Given the description of an element on the screen output the (x, y) to click on. 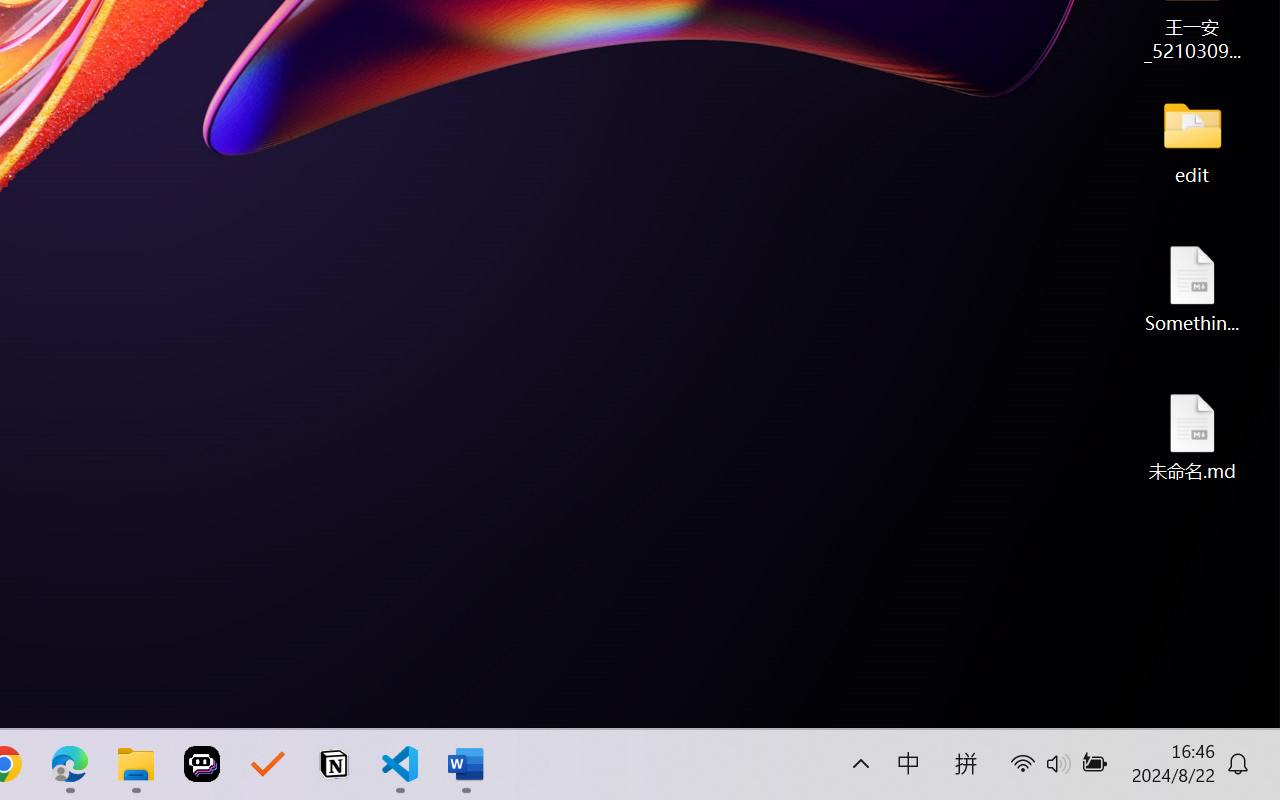
edit (1192, 140)
Something.md (1192, 288)
